Given the description of an element on the screen output the (x, y) to click on. 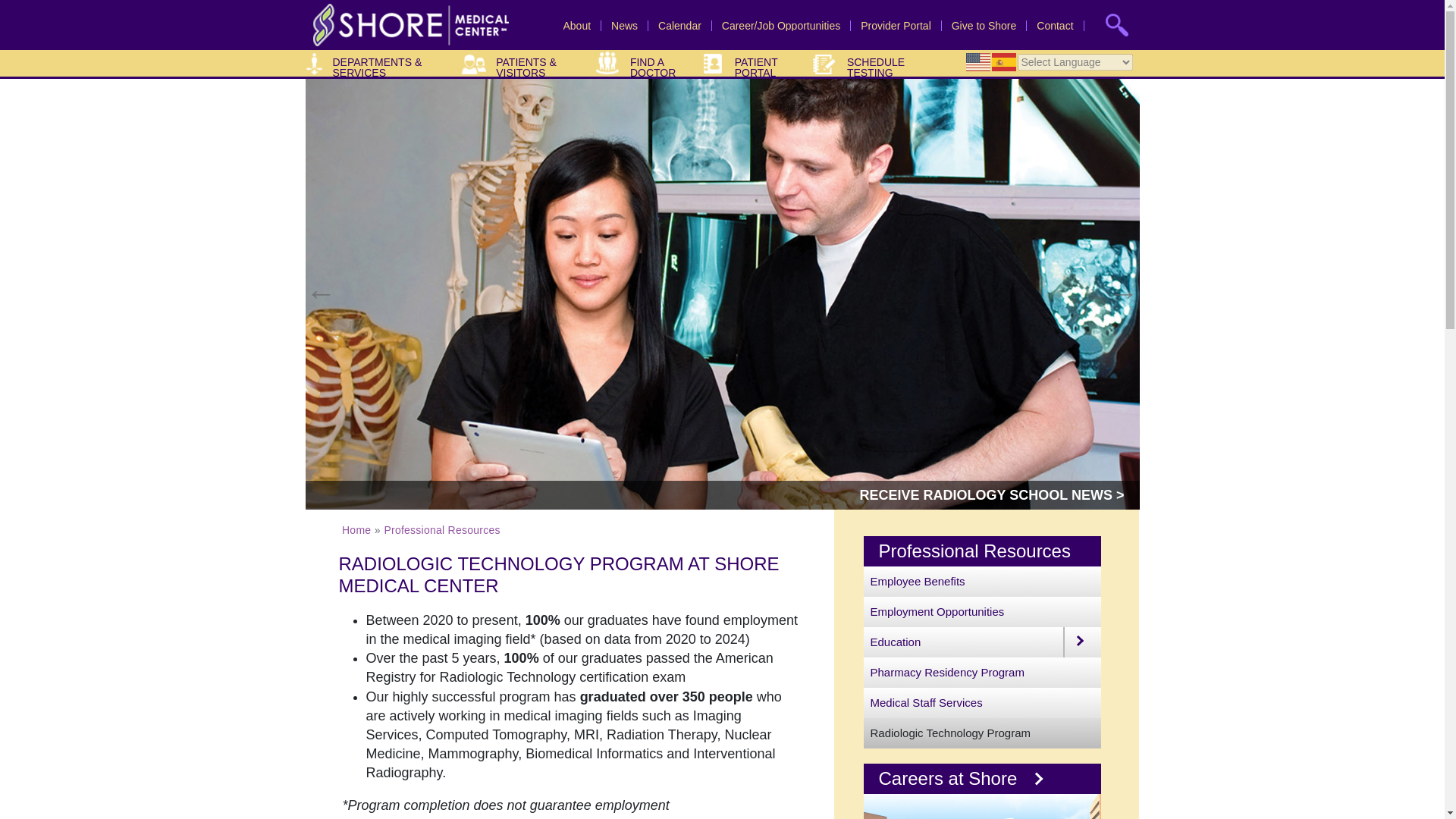
Spanish (1004, 61)
Search (66, 16)
Expand menu Education (1081, 642)
Home (406, 24)
Give to Shore (984, 25)
News (624, 25)
Calendar (679, 25)
Contact (1054, 25)
About (576, 25)
English (978, 61)
Provider Portal (895, 25)
